Given the description of an element on the screen output the (x, y) to click on. 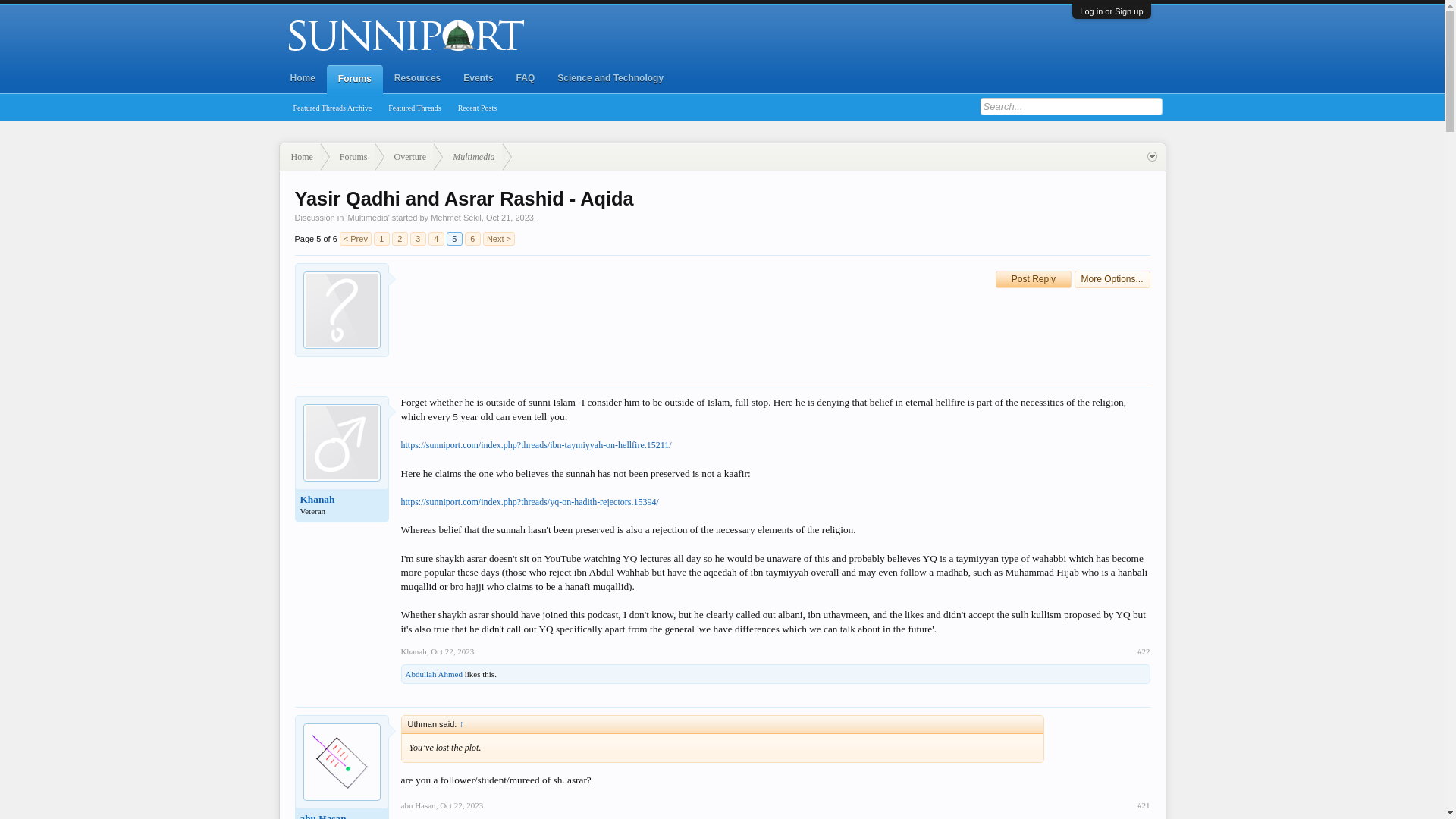
Post Reply (1033, 279)
Permalink (461, 804)
Overture (404, 157)
Permalink (452, 651)
3 (418, 238)
Home (302, 78)
4 (436, 238)
Multimedia (467, 157)
Log in or Sign up (1111, 10)
Forums (354, 79)
